Given the description of an element on the screen output the (x, y) to click on. 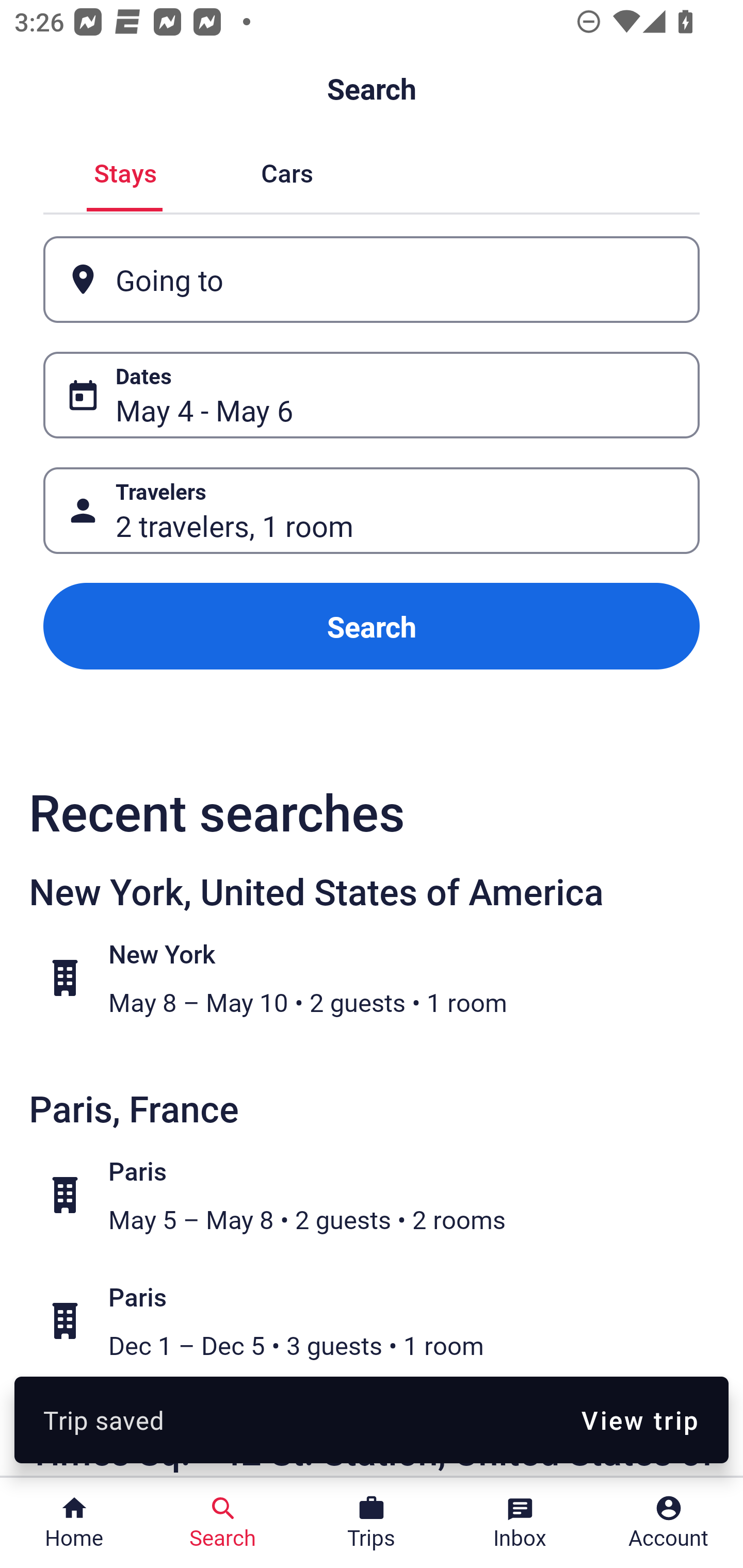
Cars (286, 171)
Going to Button (371, 279)
Dates Button May 4 - May 6 (371, 395)
Travelers Button 2 travelers, 1 room (371, 510)
Search (371, 626)
New York May 8 – May 10 • 2 guests • 1 room (382, 978)
Paris May 5 – May 8 • 2 guests • 2 rooms (382, 1194)
Paris Dec 1 – Dec 5 • 3 guests • 1 room (382, 1320)
View trip (640, 1419)
Home Home Button (74, 1522)
Trips Trips Button (371, 1522)
Inbox Inbox Button (519, 1522)
Account Profile. Button (668, 1522)
